Given the description of an element on the screen output the (x, y) to click on. 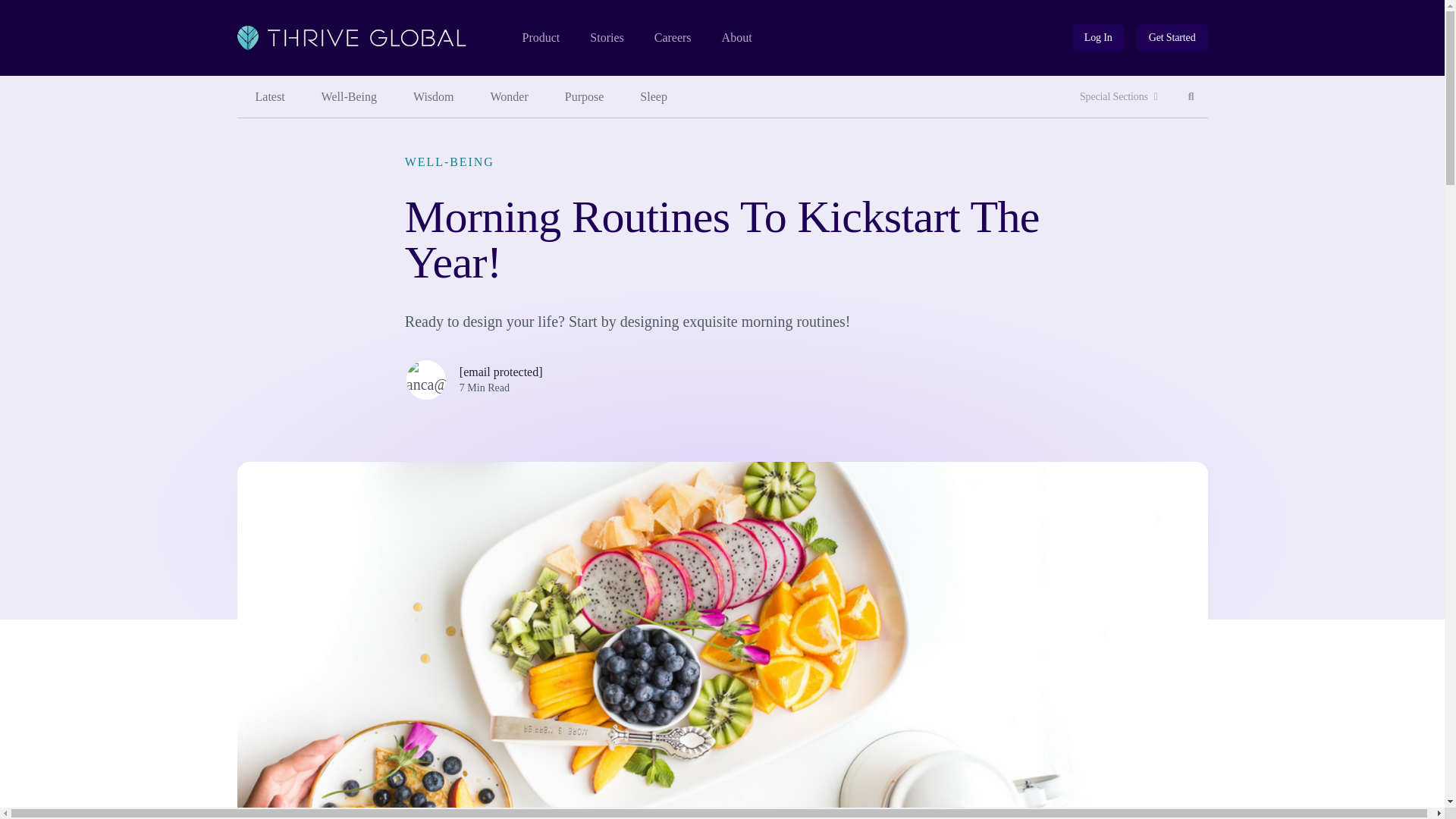
Product (540, 37)
Stories (606, 37)
Get Started (1172, 37)
Special Sections (1118, 97)
btn-info (1097, 37)
Well-Being (348, 96)
Purpose (585, 96)
Sleep (653, 96)
Log In (1097, 37)
Latest (268, 96)
